Given the description of an element on the screen output the (x, y) to click on. 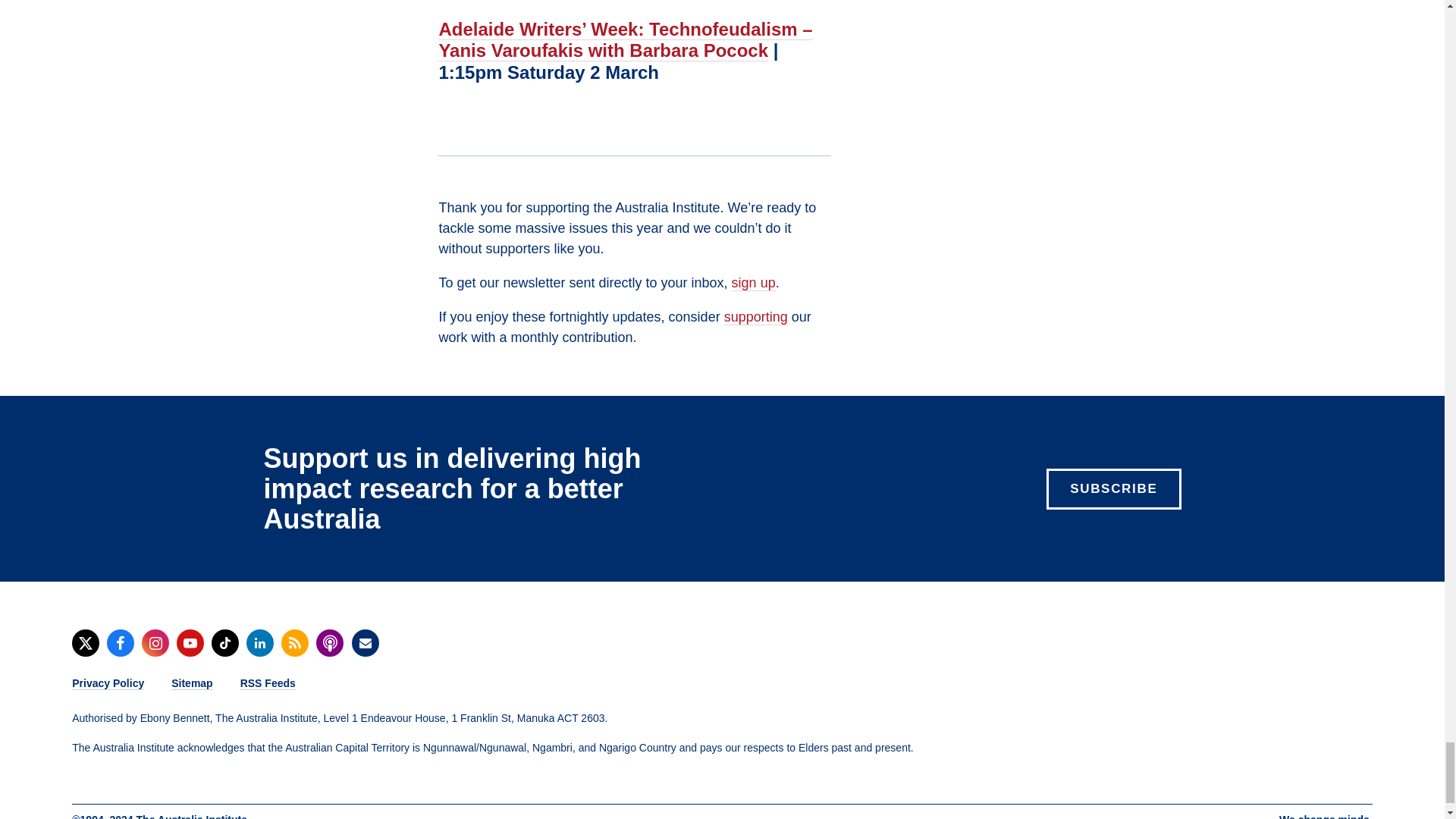
Follow us on YouTube (189, 642)
Follow us on TikTok (224, 642)
Follow us on Newsletters (365, 642)
Follow us on RSS (294, 642)
Follow us on LinkedIn (259, 642)
Follow us on X (85, 642)
Follow us on Instagram (154, 642)
Follow us on Facebook (119, 642)
Follow us on Podcasts (329, 642)
